Given the description of an element on the screen output the (x, y) to click on. 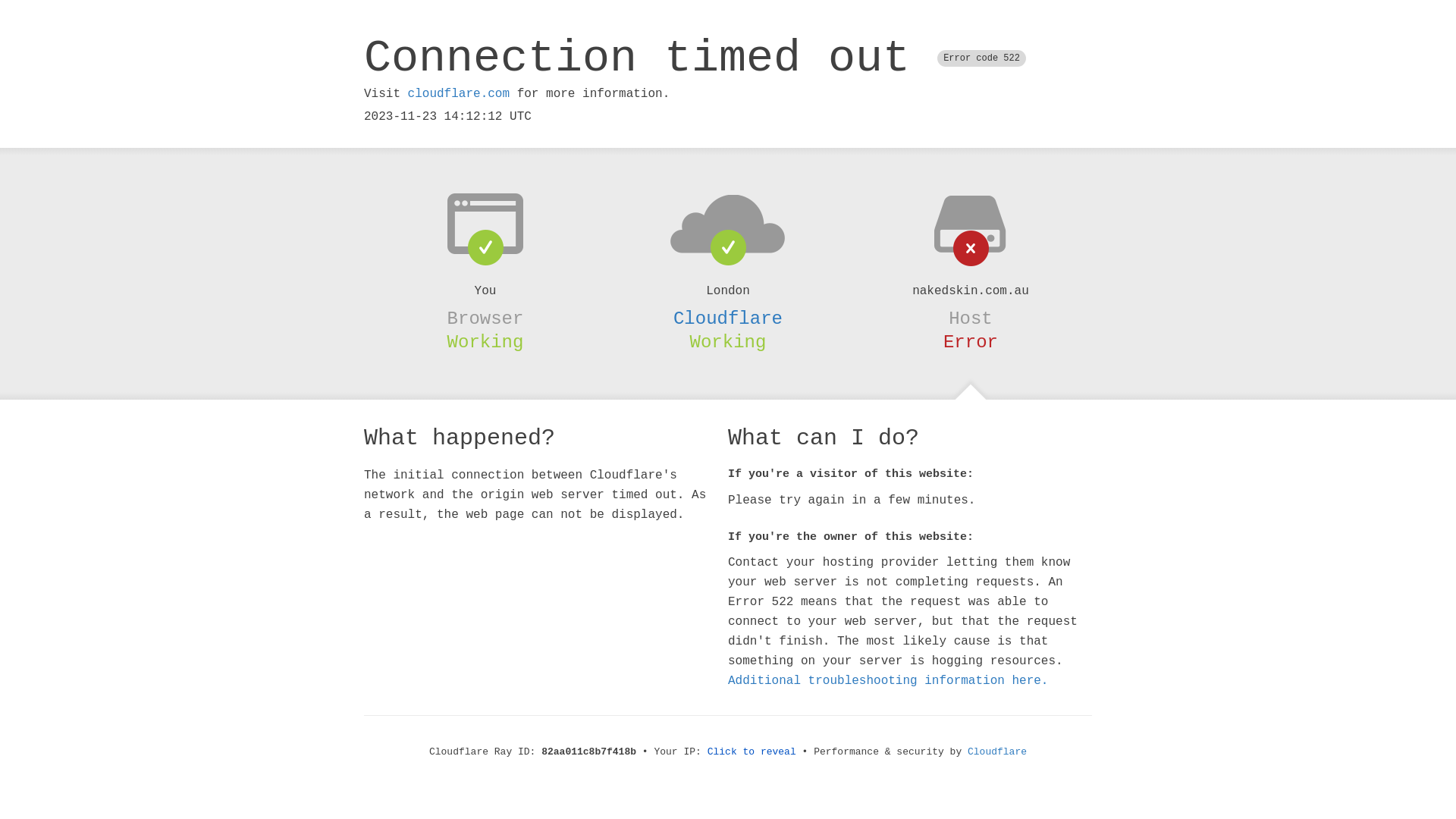
Click to reveal Element type: text (751, 751)
cloudflare.com Element type: text (458, 93)
Cloudflare Element type: text (996, 751)
Additional troubleshooting information here. Element type: text (888, 680)
Cloudflare Element type: text (727, 318)
